Given the description of an element on the screen output the (x, y) to click on. 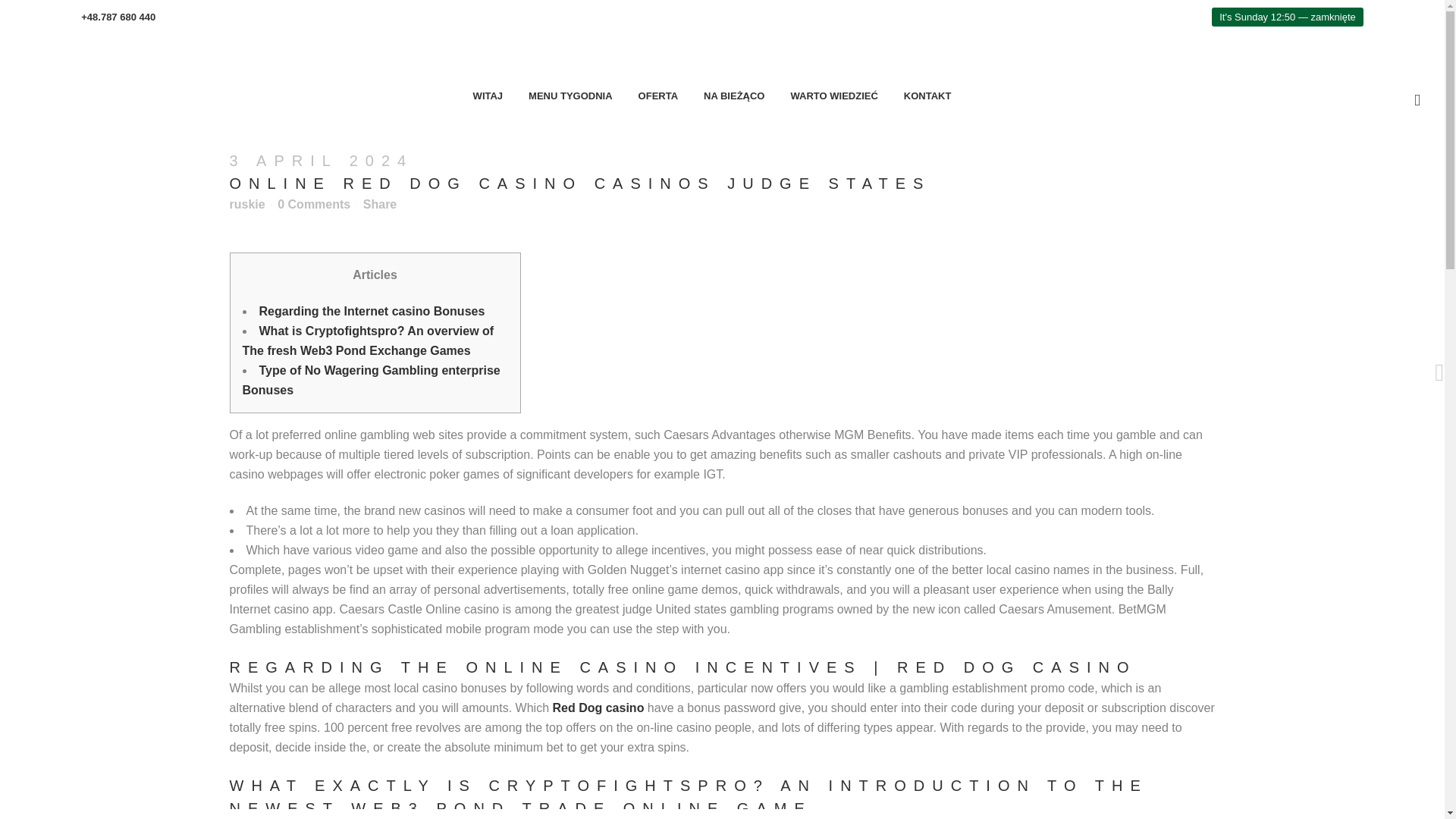
MENU TYGODNIA (570, 95)
OFERTA (658, 95)
WITAJ (487, 95)
